Given the description of an element on the screen output the (x, y) to click on. 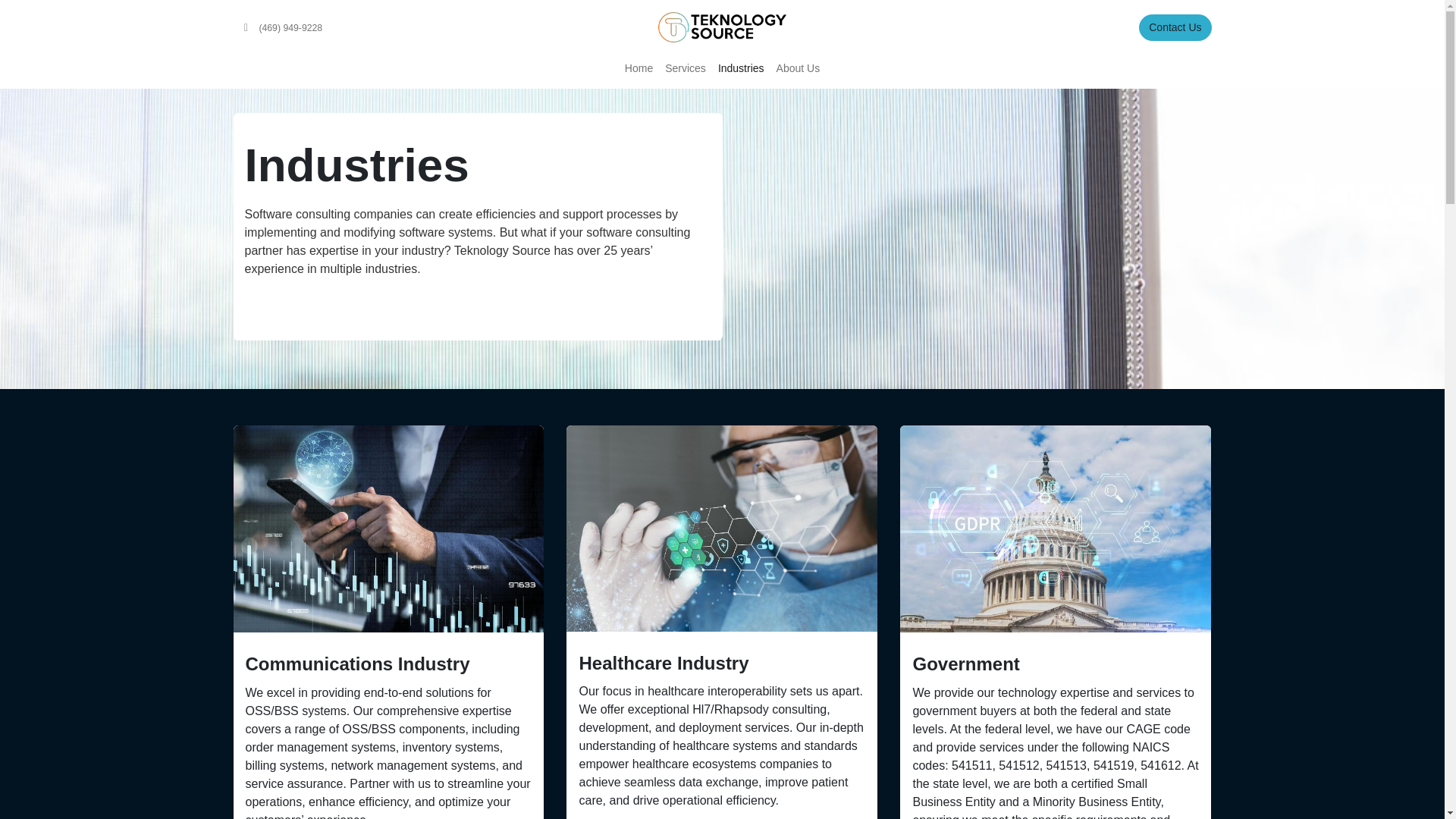
Home (638, 68)
Contact Us (1174, 26)
About Us (798, 68)
Teknologysource (722, 27)
Services (685, 68)
Industries (740, 68)
